Given the description of an element on the screen output the (x, y) to click on. 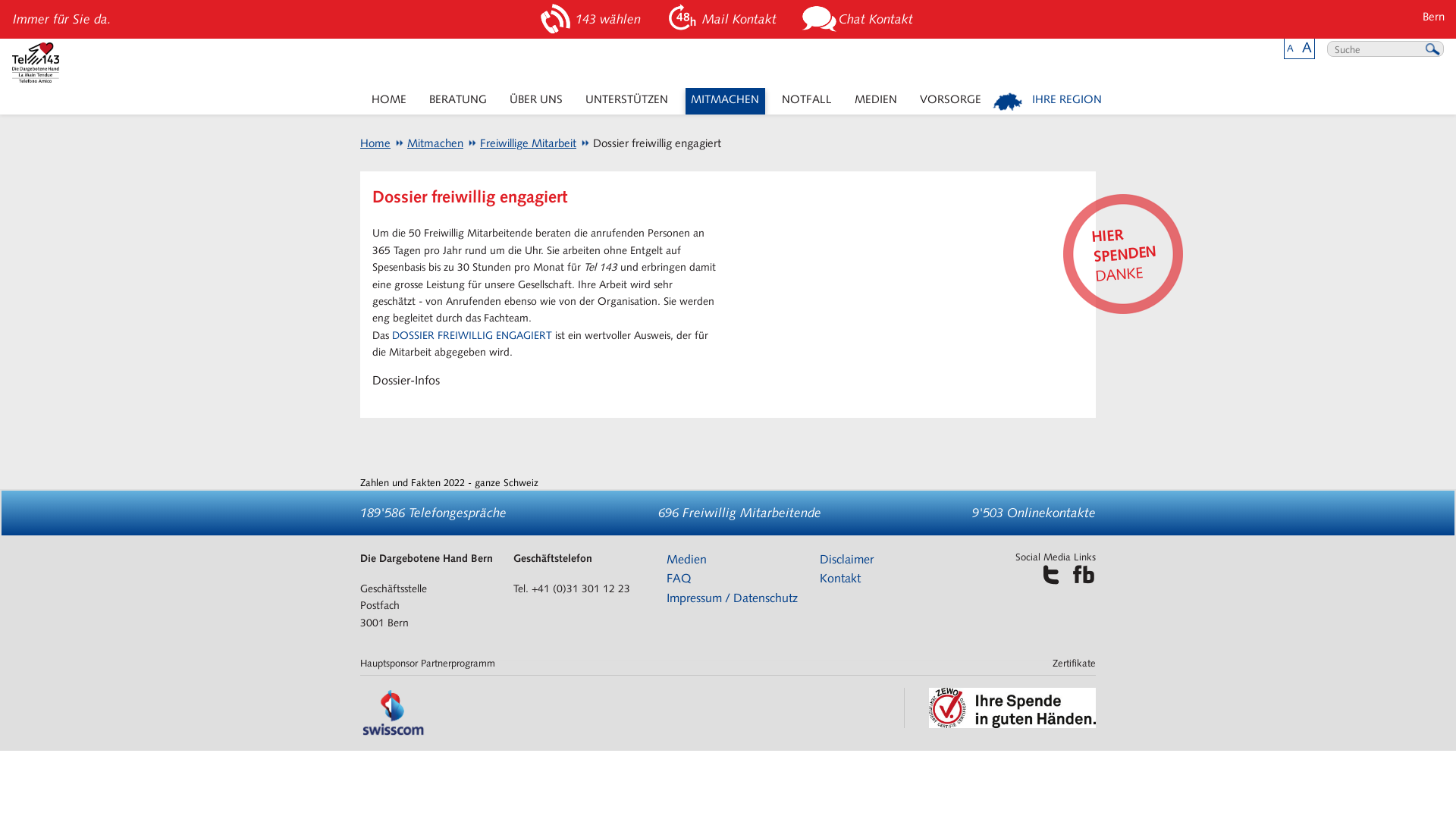
Disclaimer Element type: text (846, 559)
DOSSIER FREIWILLIG ENGAGIERT Element type: text (472, 335)
VORSORGE Element type: text (950, 100)
Mitmachen Element type: text (428, 143)
Medien Element type: text (686, 559)
MITMACHEN Element type: text (725, 100)
Impressum / Datenschutz Element type: text (731, 597)
BERATUNG Element type: text (457, 100)
A Element type: text (1306, 47)
MEDIEN Element type: text (876, 100)
696 Freiwillig Mitarbeitende Element type: text (739, 512)
Dossier freiwillig engagiert Element type: text (650, 143)
A Element type: text (1289, 47)
Mail Kontakt Element type: text (723, 19)
FAQ Element type: text (678, 578)
IHRE REGION Element type: text (1047, 100)
9'503 Onlinekontakte Element type: text (1033, 512)
Home Element type: text (375, 143)
HOME Element type: text (388, 100)
HIER SPENDEN DANKE Element type: text (1119, 249)
Freiwillige Mitarbeit Element type: text (521, 143)
NOTFALL Element type: text (806, 100)
Chat Kontakt Element type: text (859, 19)
Kontakt Element type: text (839, 578)
